Given the description of an element on the screen output the (x, y) to click on. 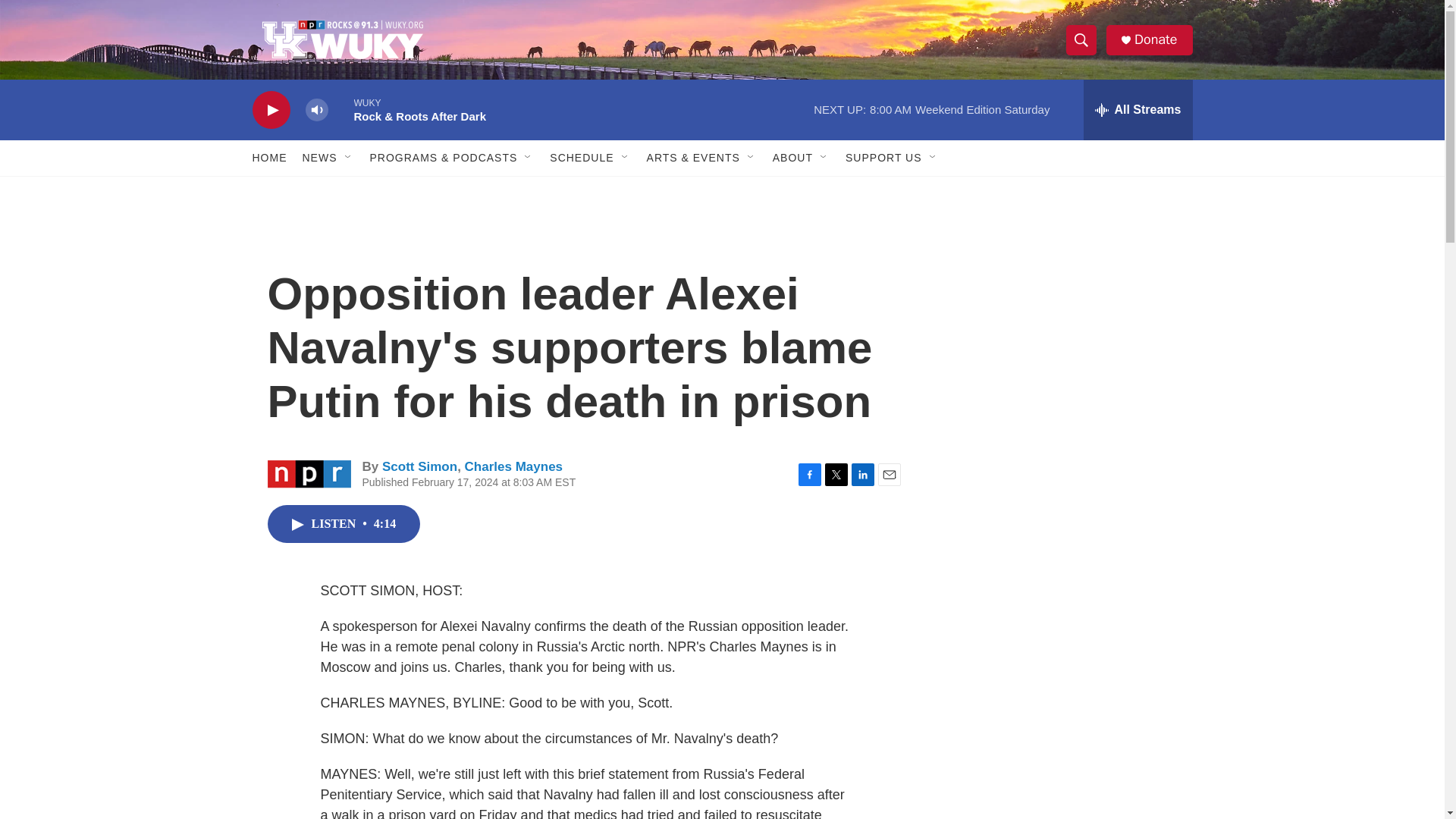
3rd party ad content (1070, 403)
